Given the description of an element on the screen output the (x, y) to click on. 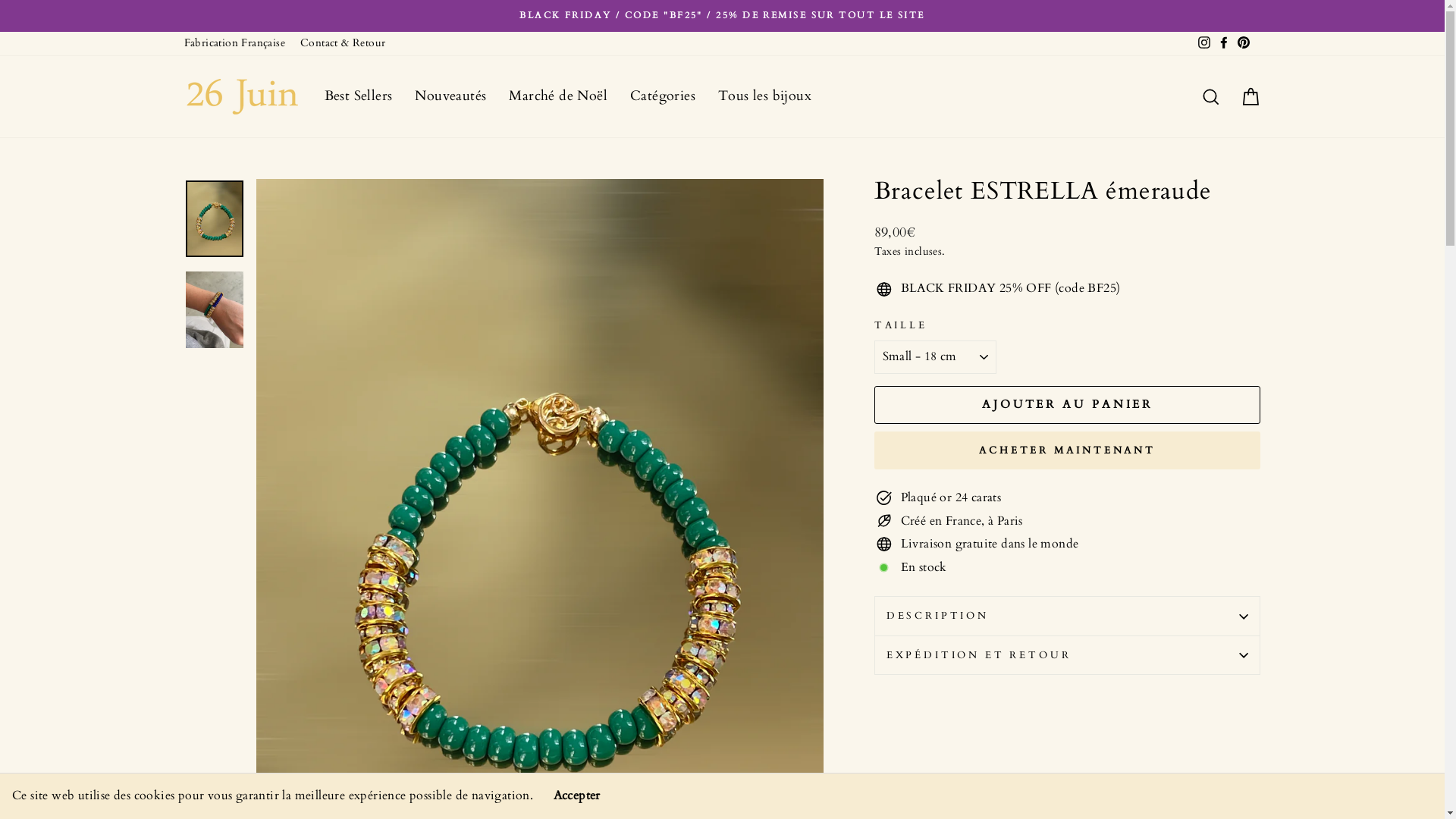
Instagram Element type: text (1203, 43)
Contact & Retour Element type: text (342, 43)
Passer au contenu Element type: text (0, 0)
DESCRIPTION Element type: text (1067, 615)
ACHETER MAINTENANT Element type: text (1067, 450)
Tous les bijoux Element type: text (764, 95)
Rechercher Element type: text (1210, 95)
Facebook Element type: text (1223, 43)
Best Sellers Element type: text (357, 95)
AJOUTER AU PANIER Element type: text (1067, 404)
Panier Element type: text (1249, 95)
Accepter Element type: text (577, 795)
Pinterest Element type: text (1242, 43)
